Given the description of an element on the screen output the (x, y) to click on. 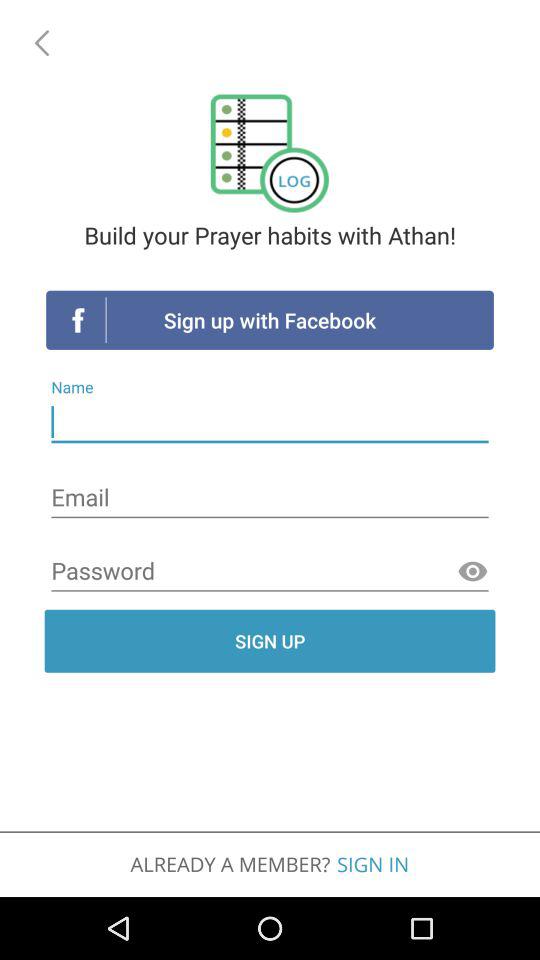
click on the logo (269, 154)
select the icon of which is above name (77, 320)
